Given the description of an element on the screen output the (x, y) to click on. 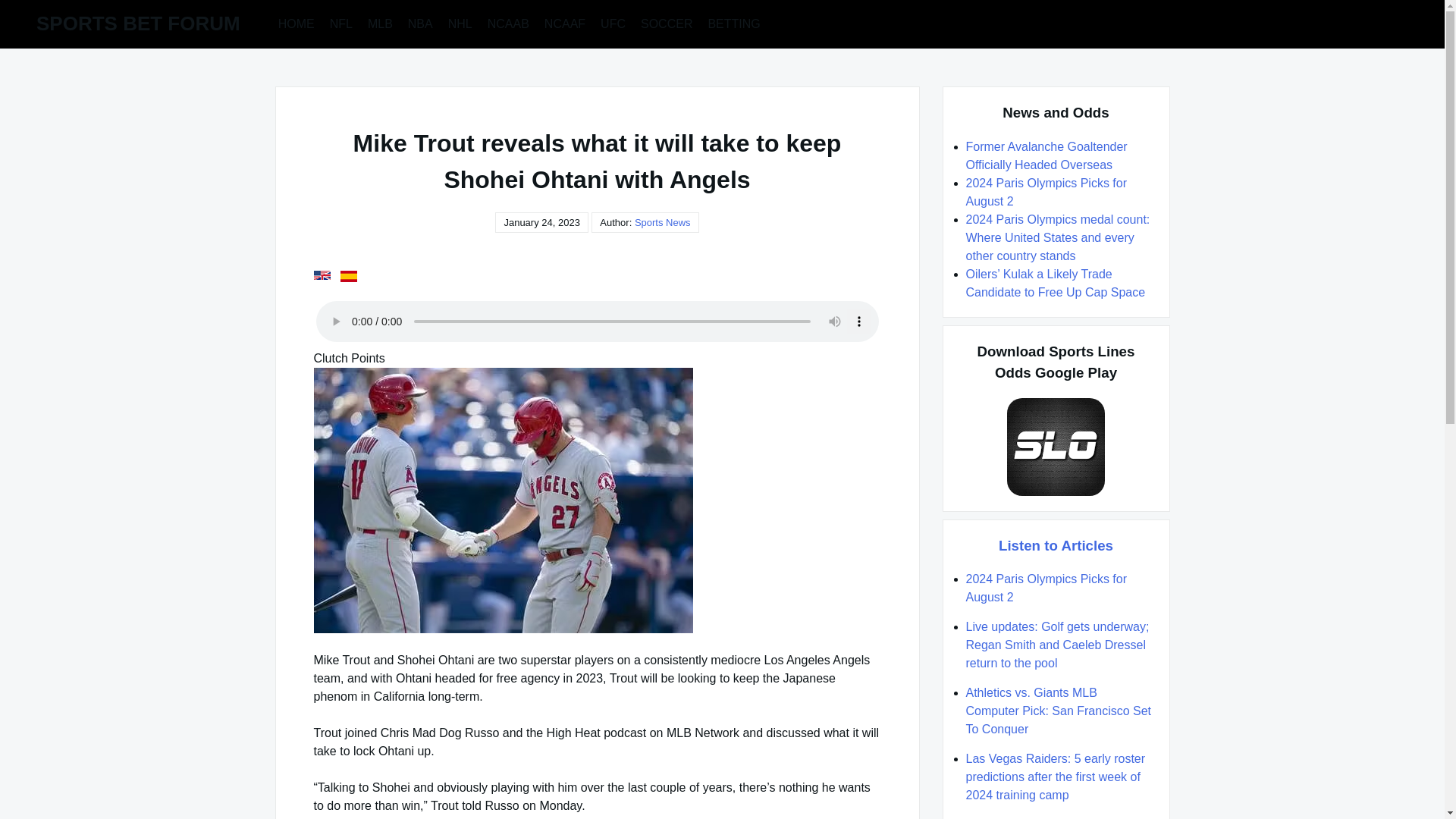
NCAAF (564, 23)
NHL (460, 23)
SOCCER (666, 23)
NCAAB (508, 23)
SPORTS BET FORUM (138, 23)
UFC (612, 23)
NBA (420, 23)
MLB (379, 23)
BETTING (733, 23)
HOME (295, 23)
NFL (340, 23)
Sports News (662, 222)
Posts by Sports News (662, 222)
